Given the description of an element on the screen output the (x, y) to click on. 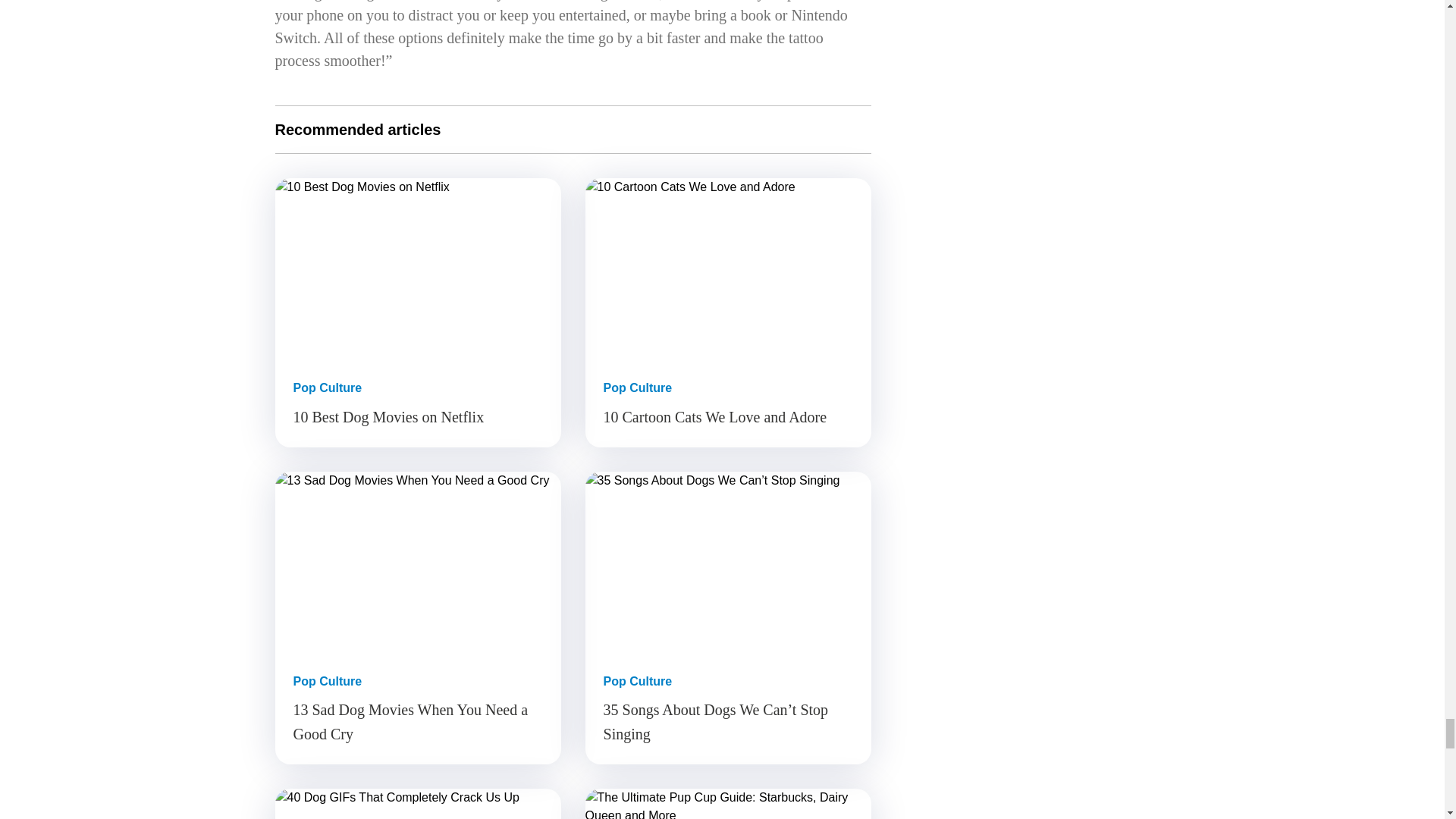
10 Best Dog Movies on Netflix (417, 269)
40 Dog GIFs That Completely Crack Us Up (417, 803)
13 Sad Dog Movies When You Need a Good Cry (417, 562)
10 Cartoon Cats We Love and Adore (728, 269)
The Ultimate Pup Cup Guide: Starbucks, Dairy Queen and More (728, 803)
